Given the description of an element on the screen output the (x, y) to click on. 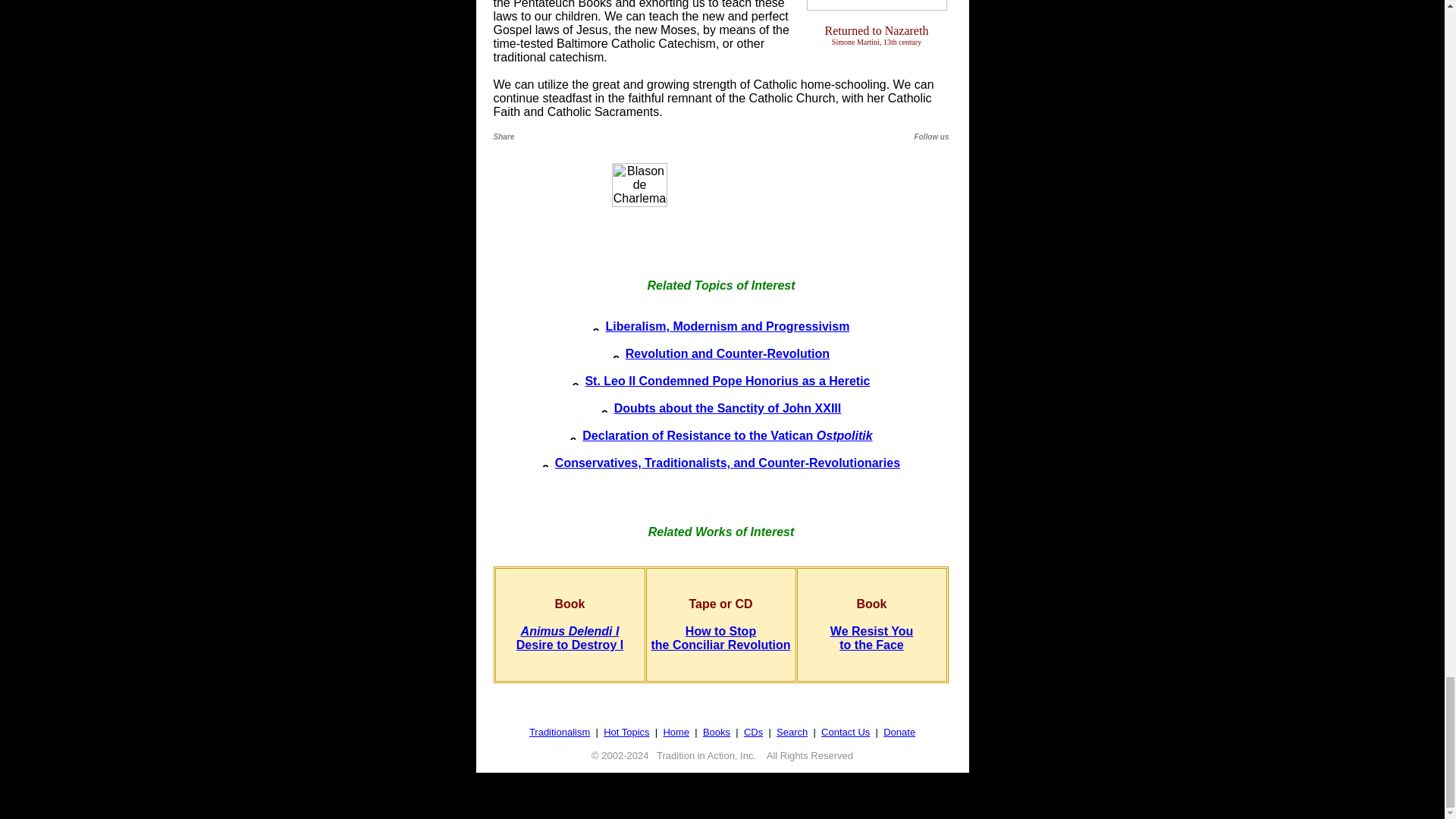
Traditionalism (559, 731)
St. Leo II Condemned Pope Honorius as a Heretic (727, 380)
Conservatives, Traditionalists, and Counter-Revolutionaries (726, 462)
Doubts about the Sanctity of John XXIII (727, 408)
Declaration of Resistance to the Vatican Ostpolitik (569, 637)
Search (727, 435)
Revolution and Counter-Revolution (792, 731)
Contact Us (727, 353)
